Given the description of an element on the screen output the (x, y) to click on. 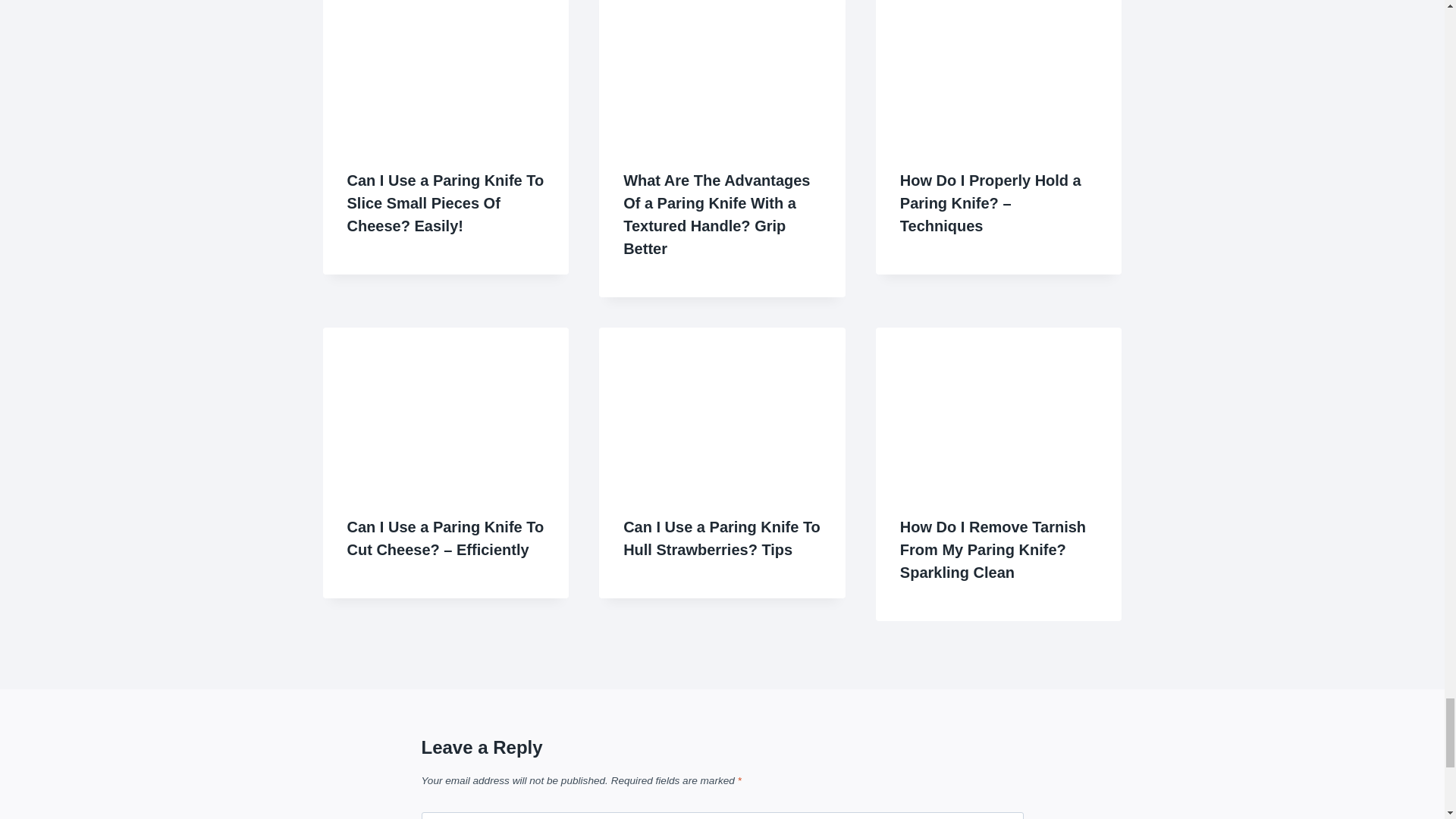
Can I Use a Paring Knife To Hull Strawberries? Tips (722, 537)
